Given the description of an element on the screen output the (x, y) to click on. 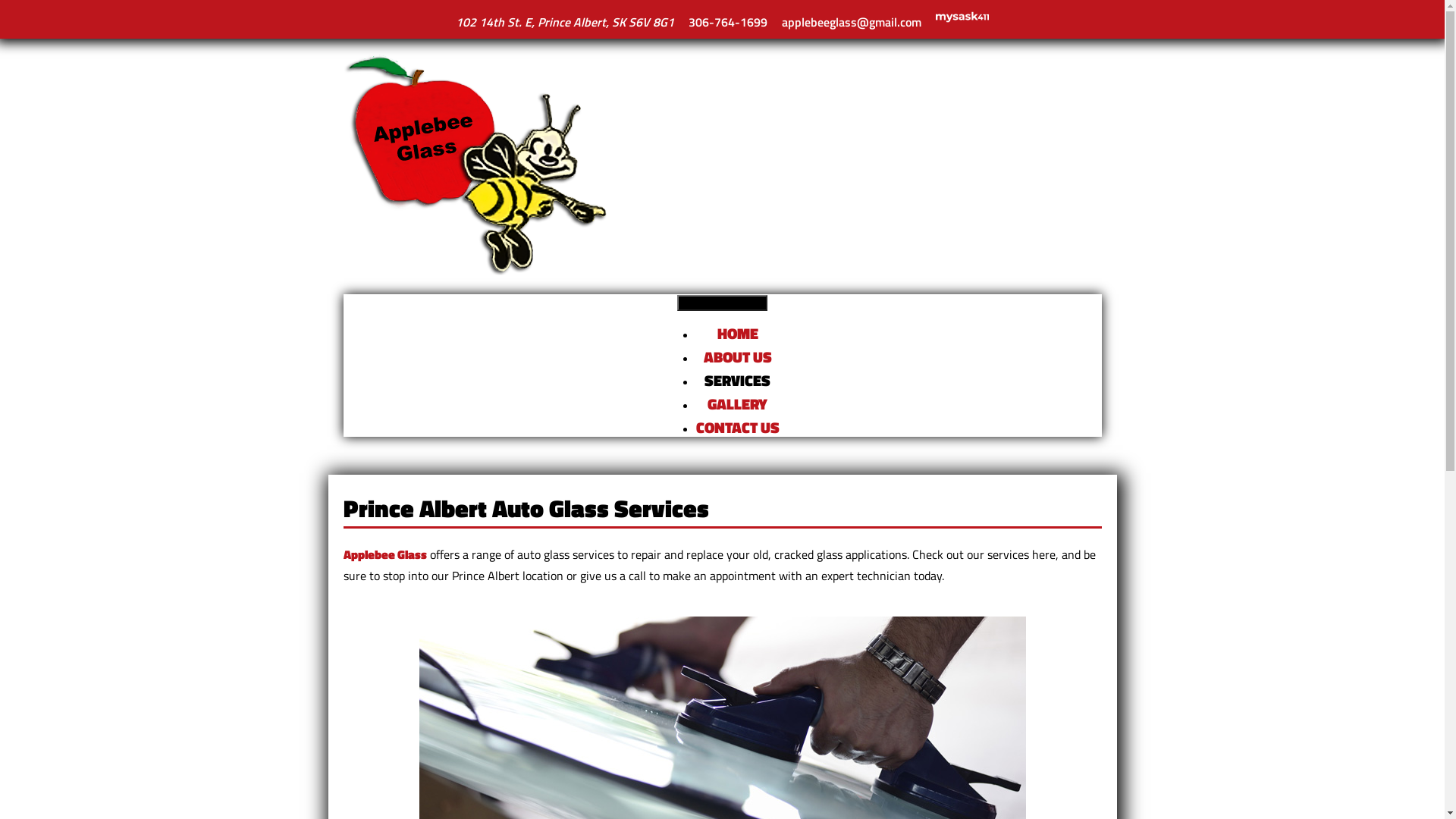
Mysask 411 Logo Element type: hover (961, 16)
ABOUT US Element type: text (737, 356)
SERVICES Element type: text (737, 380)
Toggle navigation Element type: text (722, 302)
GALLERY Element type: text (737, 403)
applebeeglass@gmail.com Element type: text (851, 21)
Applebee Glass Element type: text (384, 554)
CONTACT US Element type: text (737, 427)
306-764-1699 Element type: text (727, 21)
HOME Element type: text (737, 333)
Applebee Glass Element type: hover (474, 164)
